Given the description of an element on the screen output the (x, y) to click on. 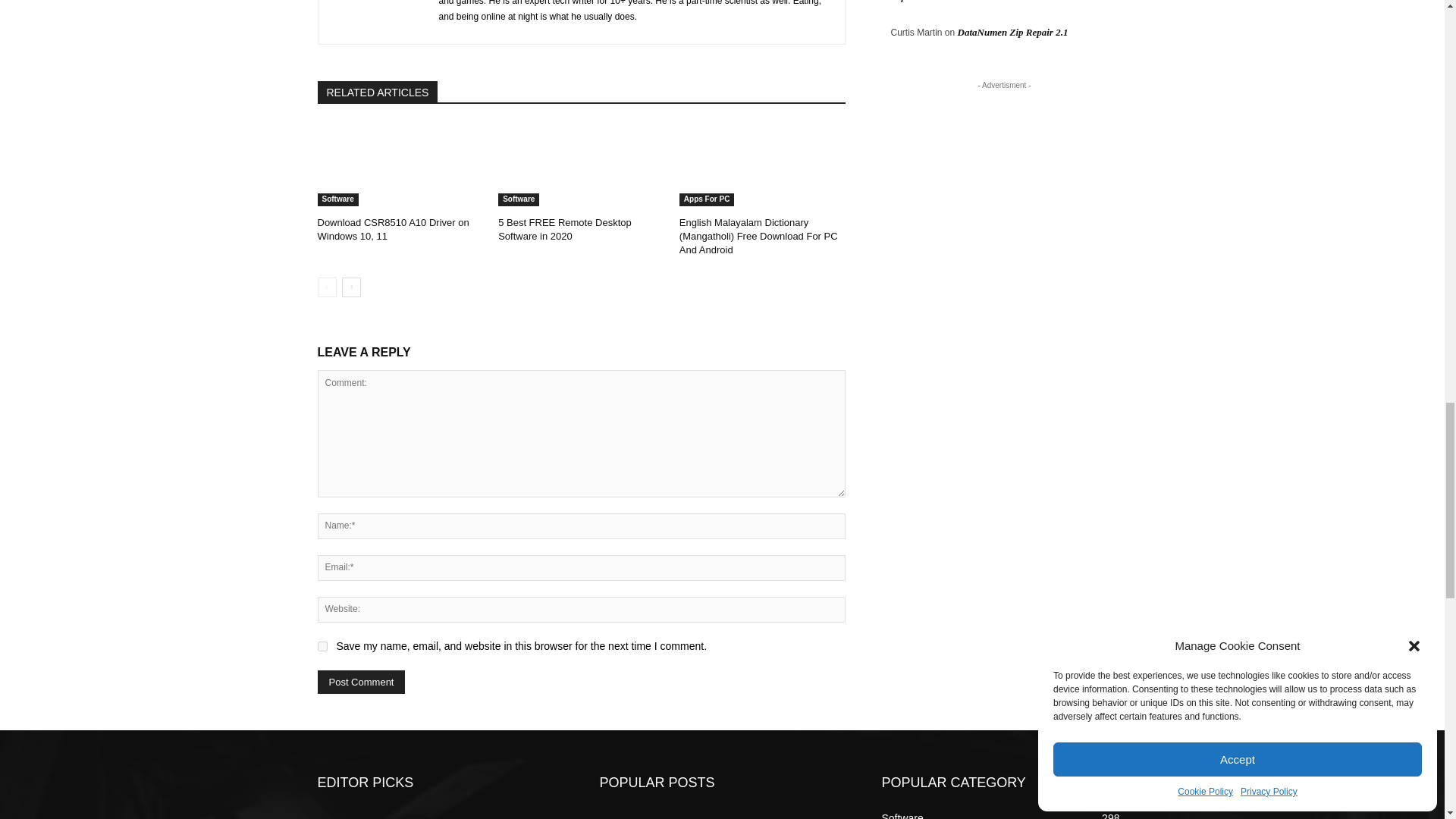
Post Comment (360, 681)
yes (321, 646)
